Given the description of an element on the screen output the (x, y) to click on. 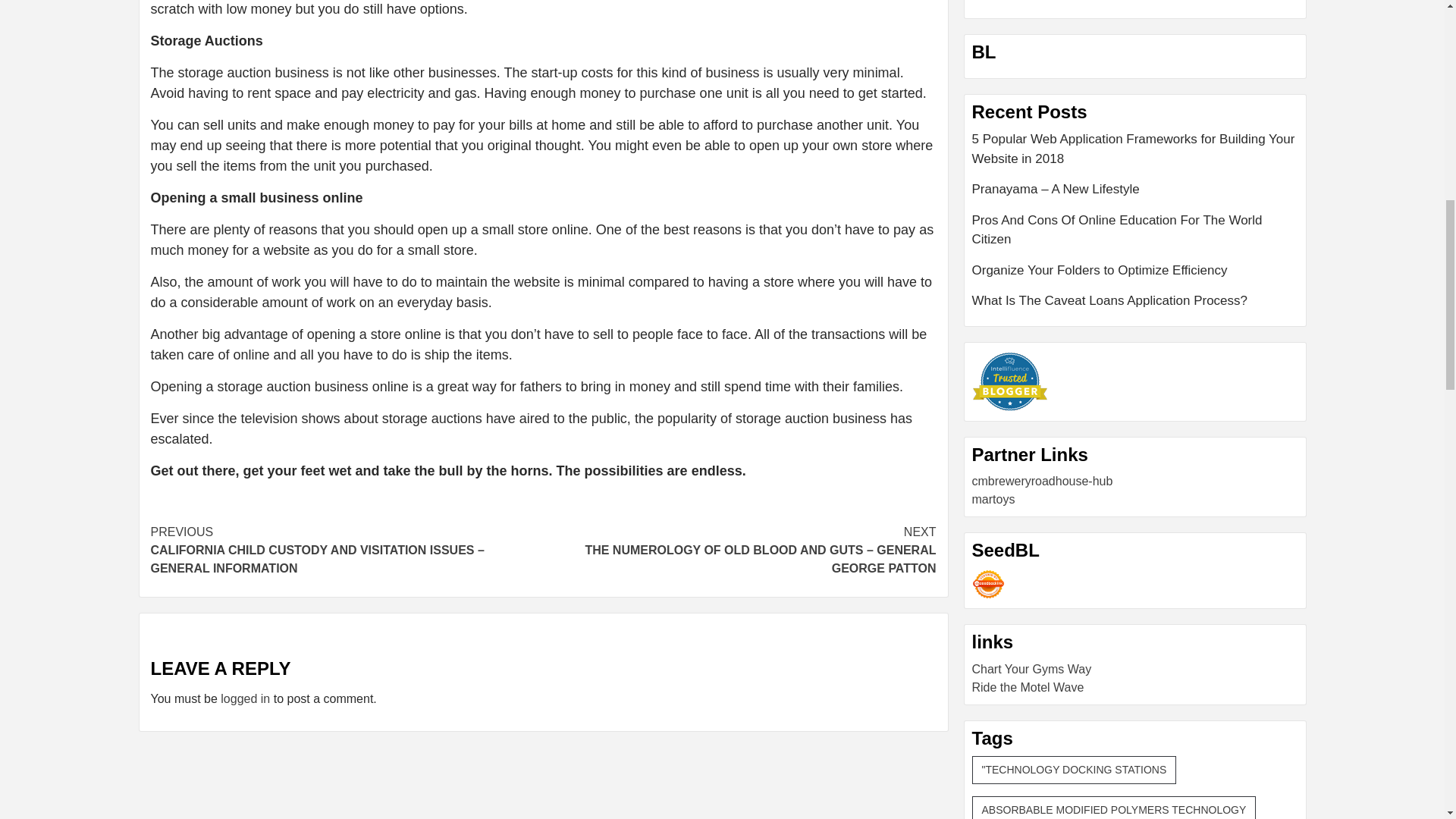
logged in (245, 698)
cmbreweryroadhouse-hub (1042, 481)
Organize Your Folders to Optimize Efficiency (1135, 276)
Pros And Cons Of Online Education For The World Citizen (1135, 235)
martoys (993, 499)
What Is The Caveat Loans Application Process? (1135, 301)
"TECHNOLOGY DOCKING STATIONS (1074, 769)
Seedbacklink (988, 584)
Chart Your Gyms Way (1032, 668)
Ride the Motel Wave (1028, 686)
ABSORBABLE MODIFIED POLYMERS TECHNOLOGY (1114, 807)
